Given the description of an element on the screen output the (x, y) to click on. 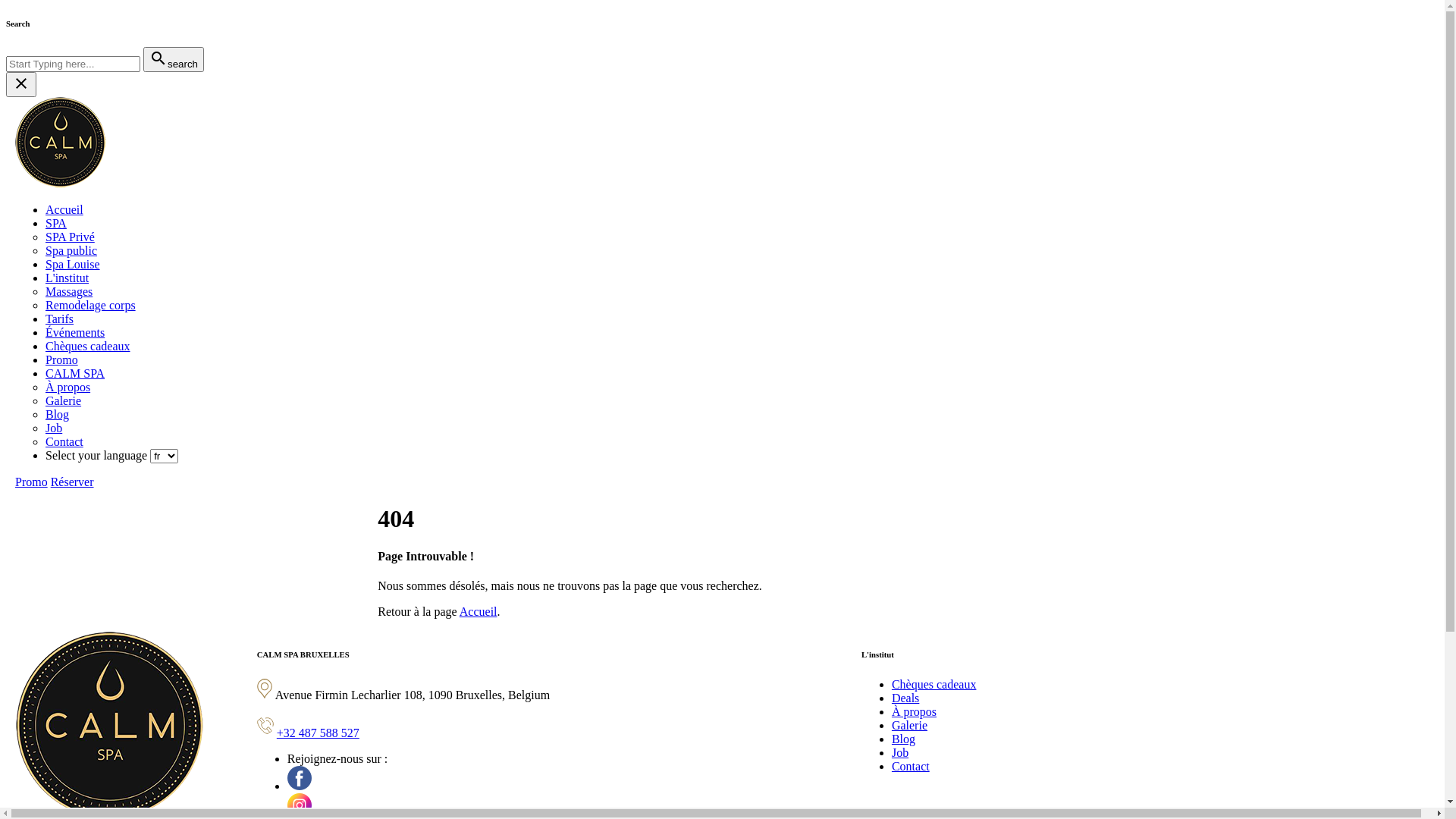
Blog Element type: text (903, 738)
SPA Element type: text (55, 222)
Remodelage corps Element type: text (90, 304)
Massages Element type: text (68, 291)
searchsearch Element type: text (173, 59)
Spa public Element type: text (71, 250)
Promo Element type: text (61, 359)
Job Element type: text (53, 427)
CALM SPA Element type: text (74, 373)
Spa Louise Element type: text (72, 263)
Promo Element type: text (31, 481)
Job Element type: text (899, 752)
Contact Element type: text (64, 441)
Instagram Element type: hover (299, 805)
Contact Element type: text (910, 765)
L'institut Element type: text (66, 277)
Accueil Element type: text (478, 611)
Deals Element type: text (905, 697)
Tarifs Element type: text (59, 318)
Galerie Element type: text (909, 724)
Calm Spa Bruxelles Element type: hover (60, 142)
Accueil Element type: text (64, 209)
close Element type: text (21, 84)
+32 487 588 527 Element type: text (317, 732)
Facebook Element type: hover (299, 777)
Blog Element type: text (57, 413)
Galerie Element type: text (63, 400)
